Given the description of an element on the screen output the (x, y) to click on. 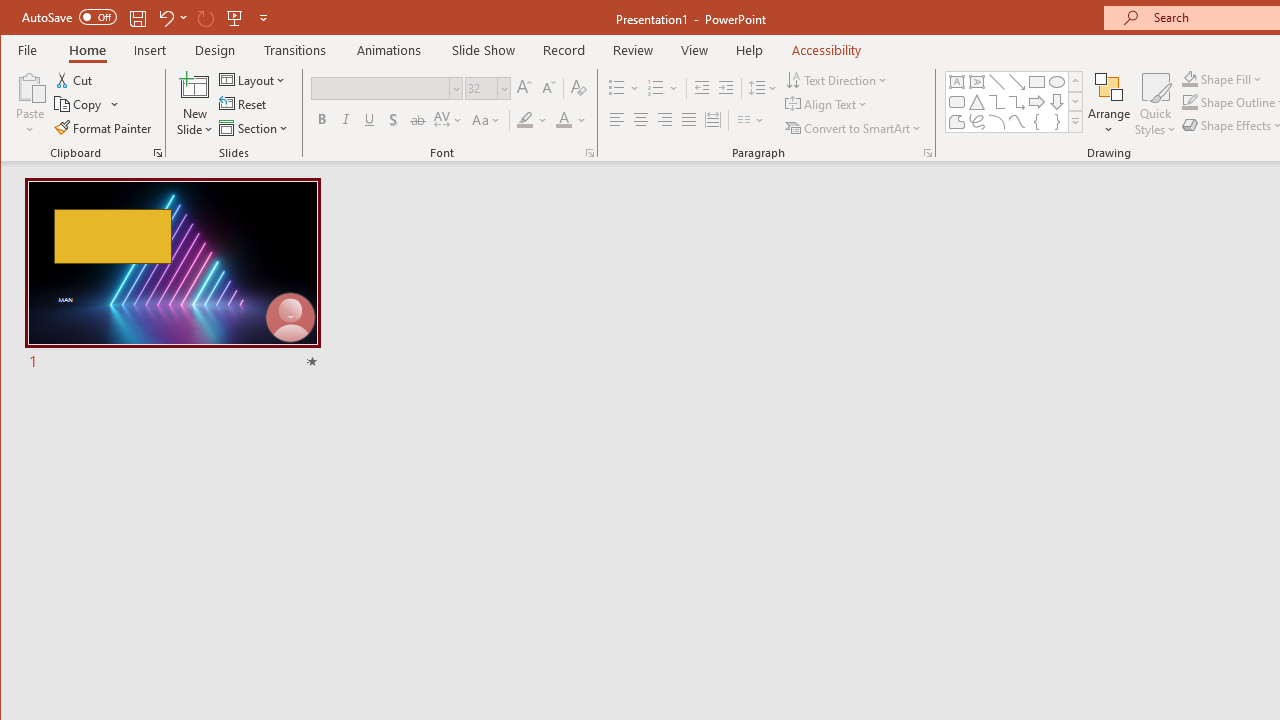
Rectangle: Rounded Corners (956, 102)
Increase Font Size (524, 88)
Shape Fill (1222, 78)
Section (255, 127)
Convert to SmartArt (855, 127)
Isosceles Triangle (976, 102)
